Given the description of an element on the screen output the (x, y) to click on. 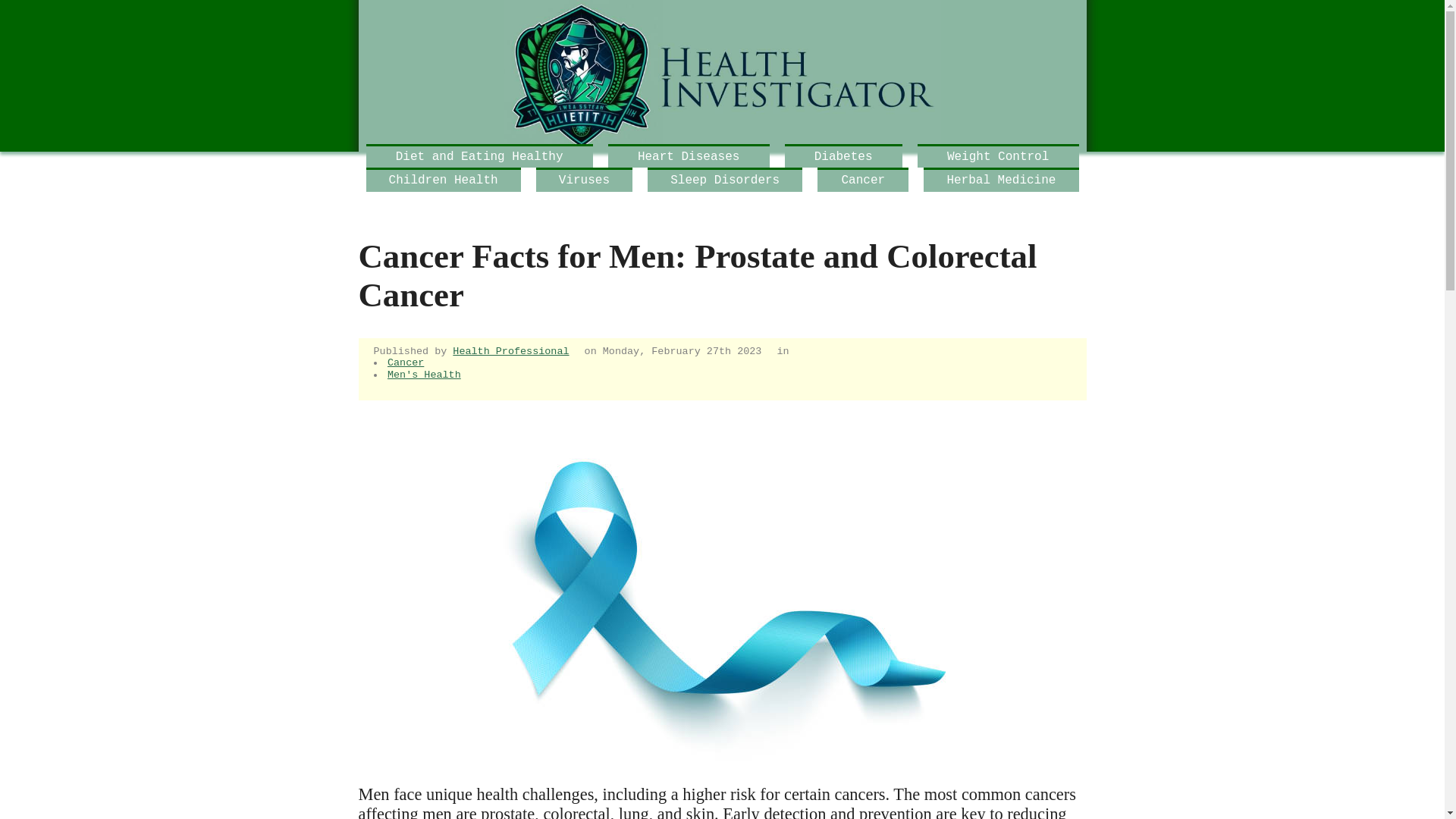
Cancer (862, 178)
Viruses (583, 178)
Sleep Disorders (724, 178)
Diabetes (843, 155)
Herbal Medicine (1000, 178)
Heart Diseases (689, 155)
Children Health (442, 178)
Diet and Eating Healthy (478, 155)
Weight Control (997, 155)
Cancer (405, 362)
